Given the description of an element on the screen output the (x, y) to click on. 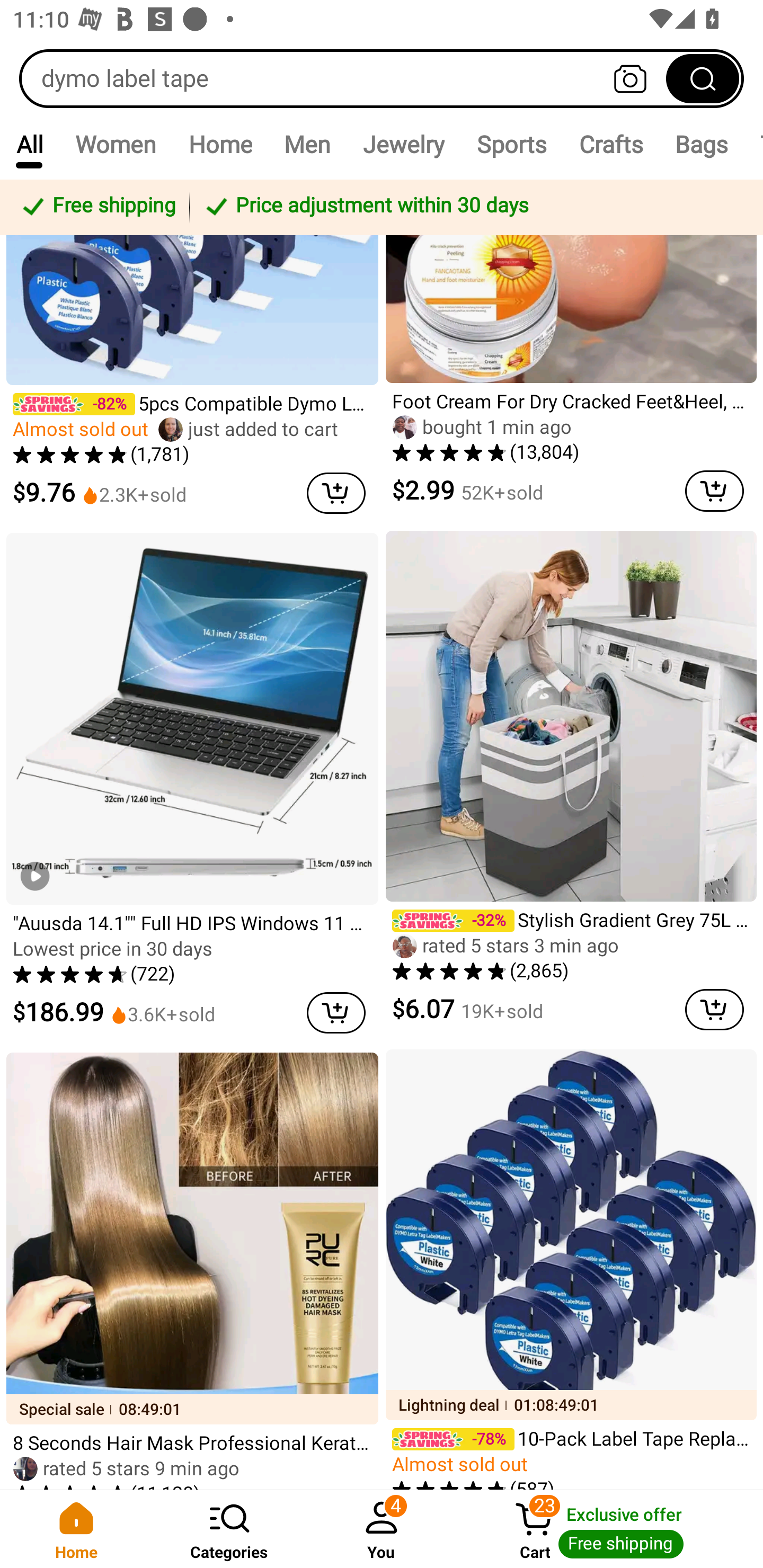
dymo label tape (381, 78)
All (29, 144)
Women (115, 144)
Home (219, 144)
Men (306, 144)
Jewelry (403, 144)
Sports (511, 144)
Crafts (611, 144)
Bags (701, 144)
Free shipping (97, 206)
Price adjustment within 30 days (472, 206)
cart delete (714, 490)
cart delete (335, 492)
cart delete (714, 1009)
cart delete (335, 1012)
Home (76, 1528)
Categories (228, 1528)
You 4 You (381, 1528)
Cart 23 Cart Exclusive offer (610, 1528)
